Given the description of an element on the screen output the (x, y) to click on. 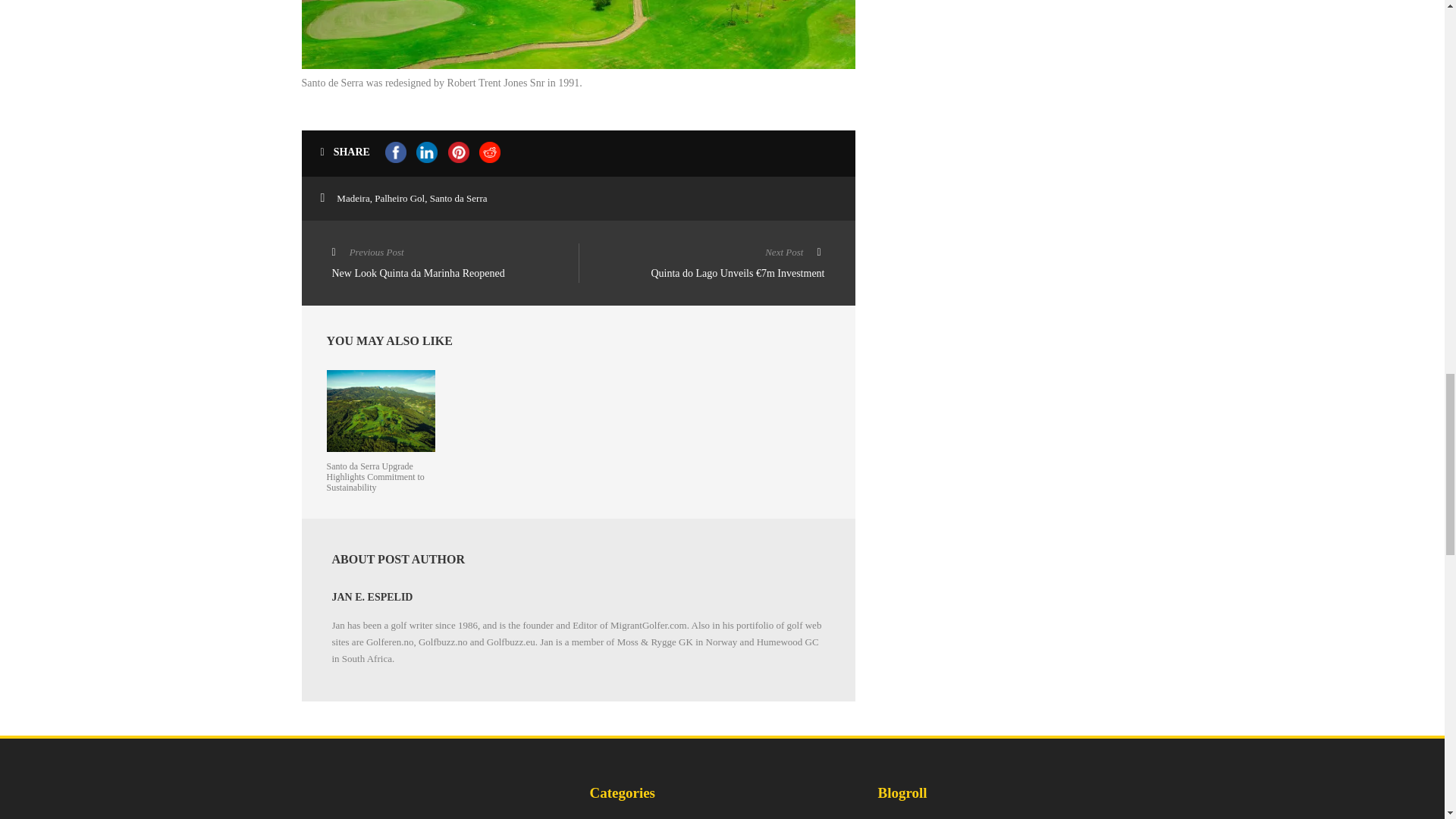
JAN E. ESPELID (372, 596)
Santo da Serra (458, 197)
Madeira (352, 197)
Posts by Jan E. Espelid (454, 264)
Palheiro Gol (372, 596)
